Given the description of an element on the screen output the (x, y) to click on. 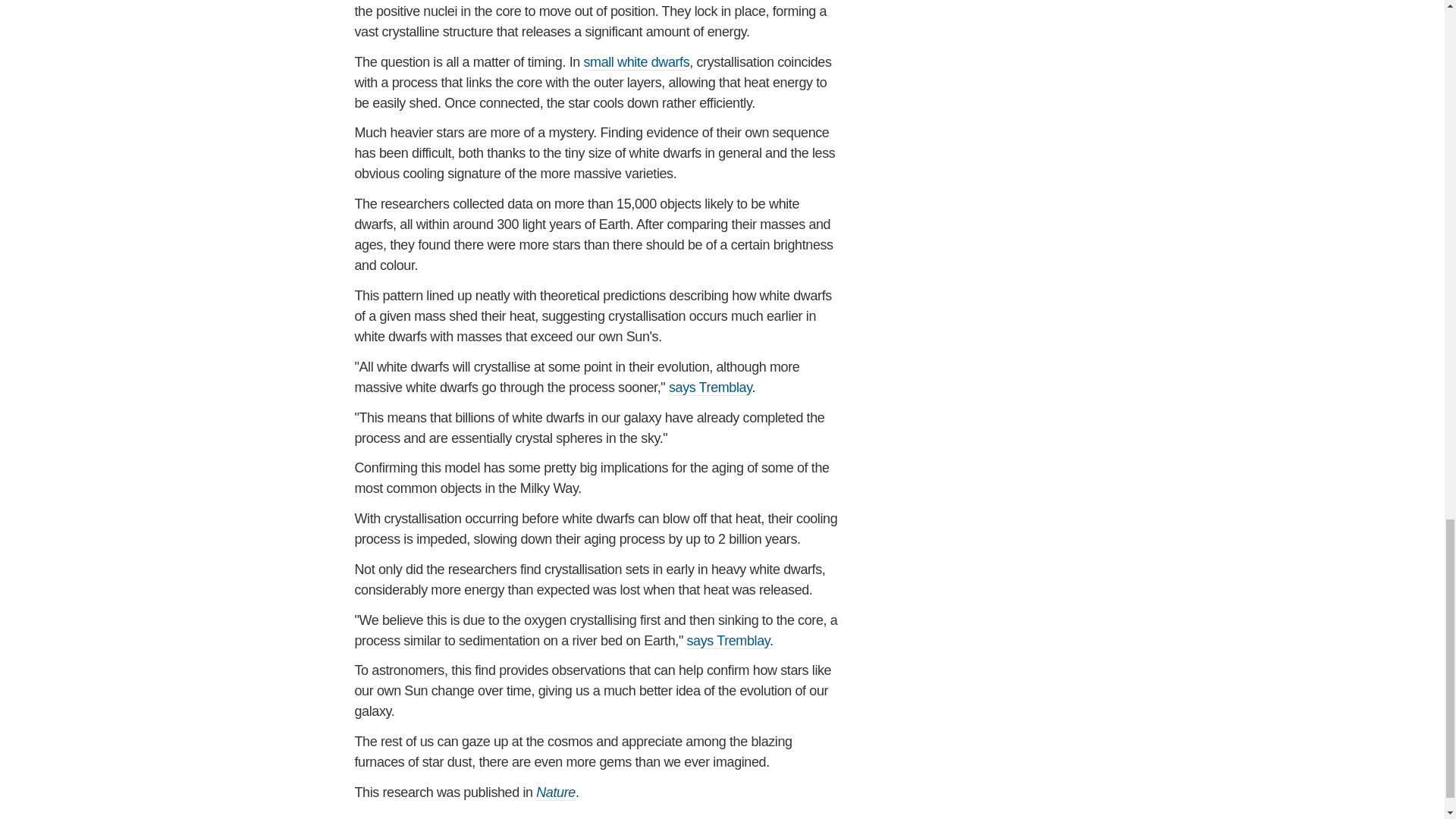
says Tremblay (728, 641)
says Tremblay (710, 387)
small white dwarfs (635, 62)
Nature (555, 792)
